Given the description of an element on the screen output the (x, y) to click on. 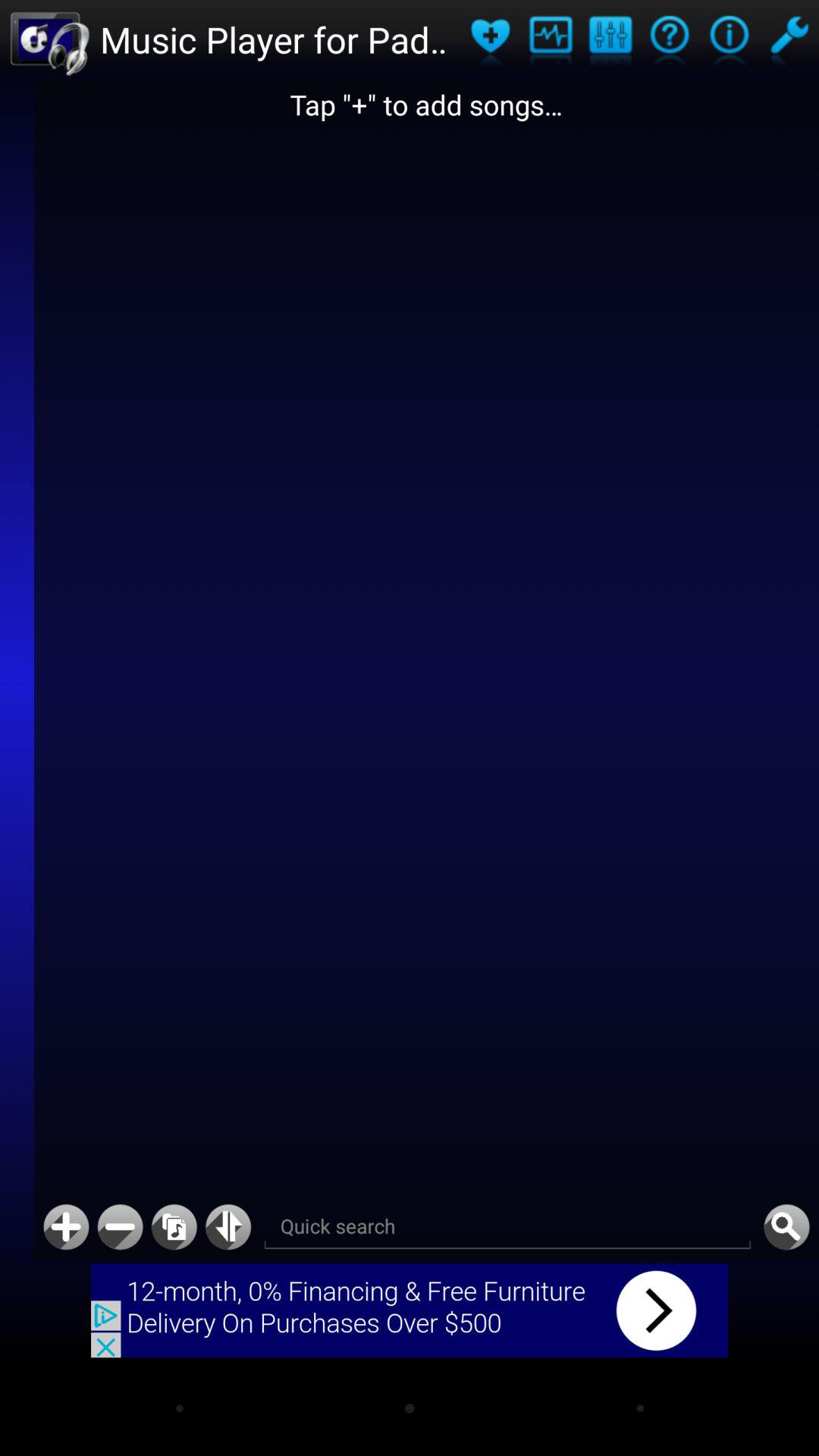
adjust settings (609, 39)
